Given the description of an element on the screen output the (x, y) to click on. 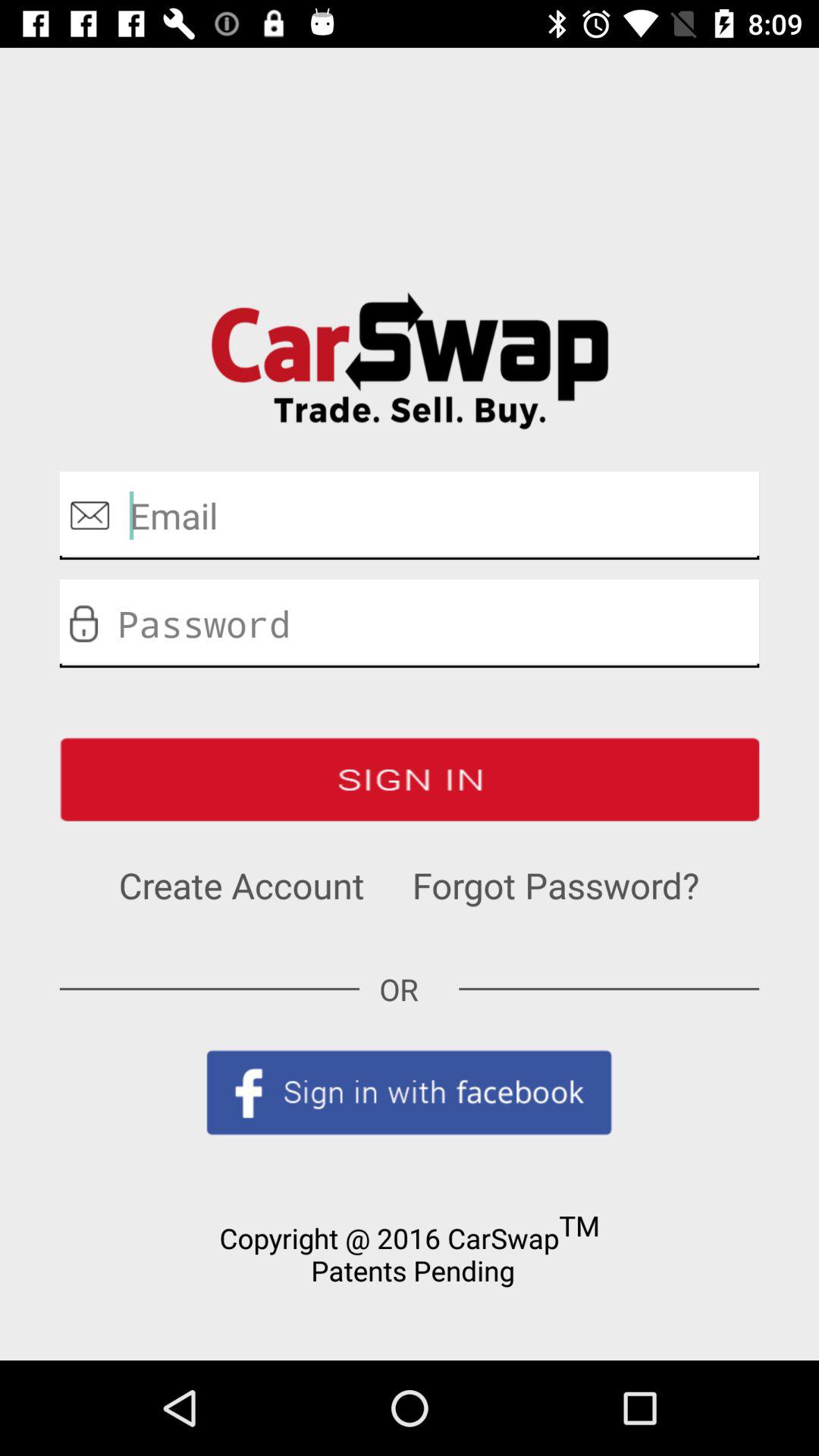
enter email (409, 515)
